Given the description of an element on the screen output the (x, y) to click on. 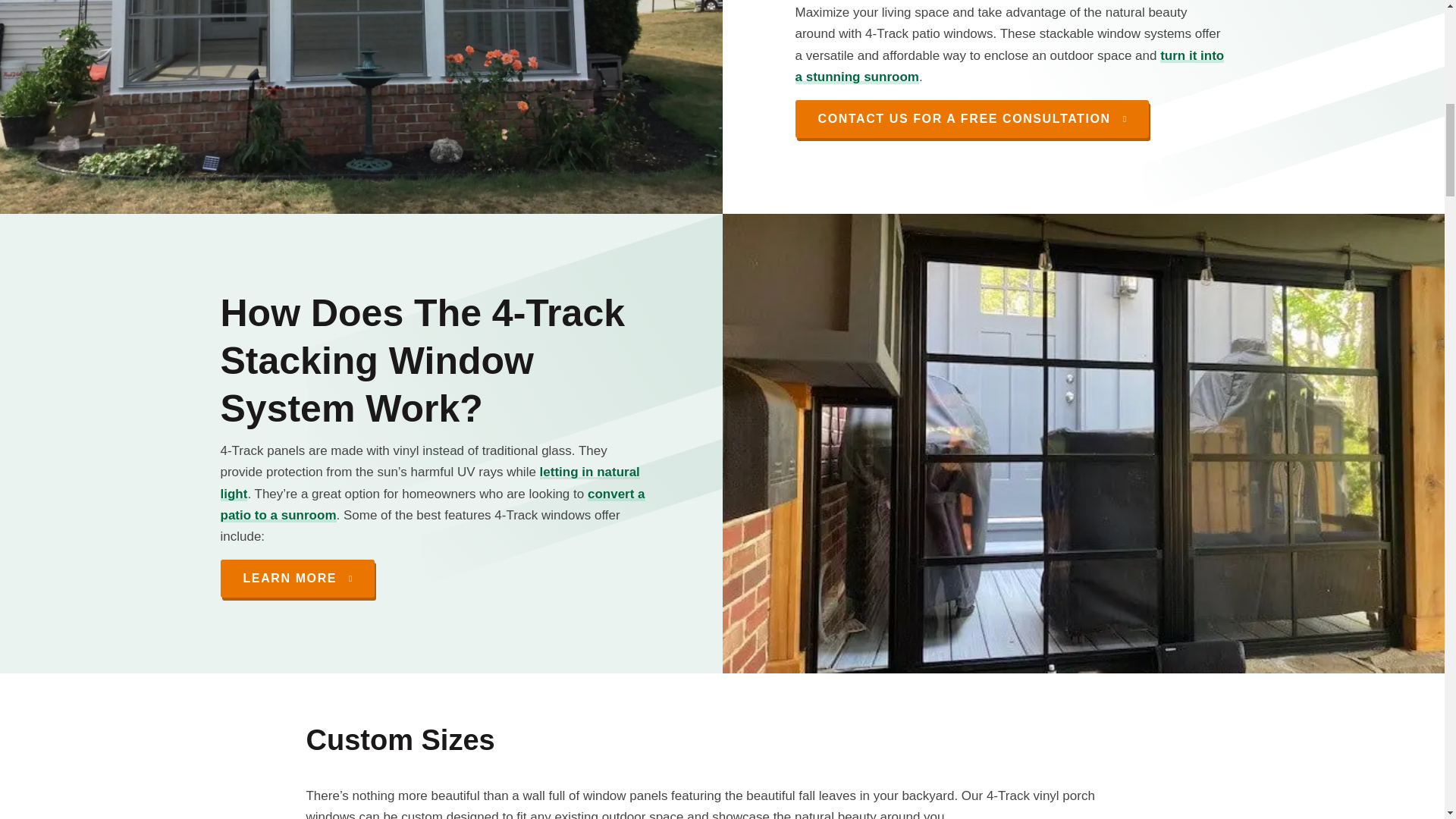
turn it into a stunning sunroom (1009, 66)
CONTACT US FOR A FREE CONSULTATION (971, 118)
